Given the description of an element on the screen output the (x, y) to click on. 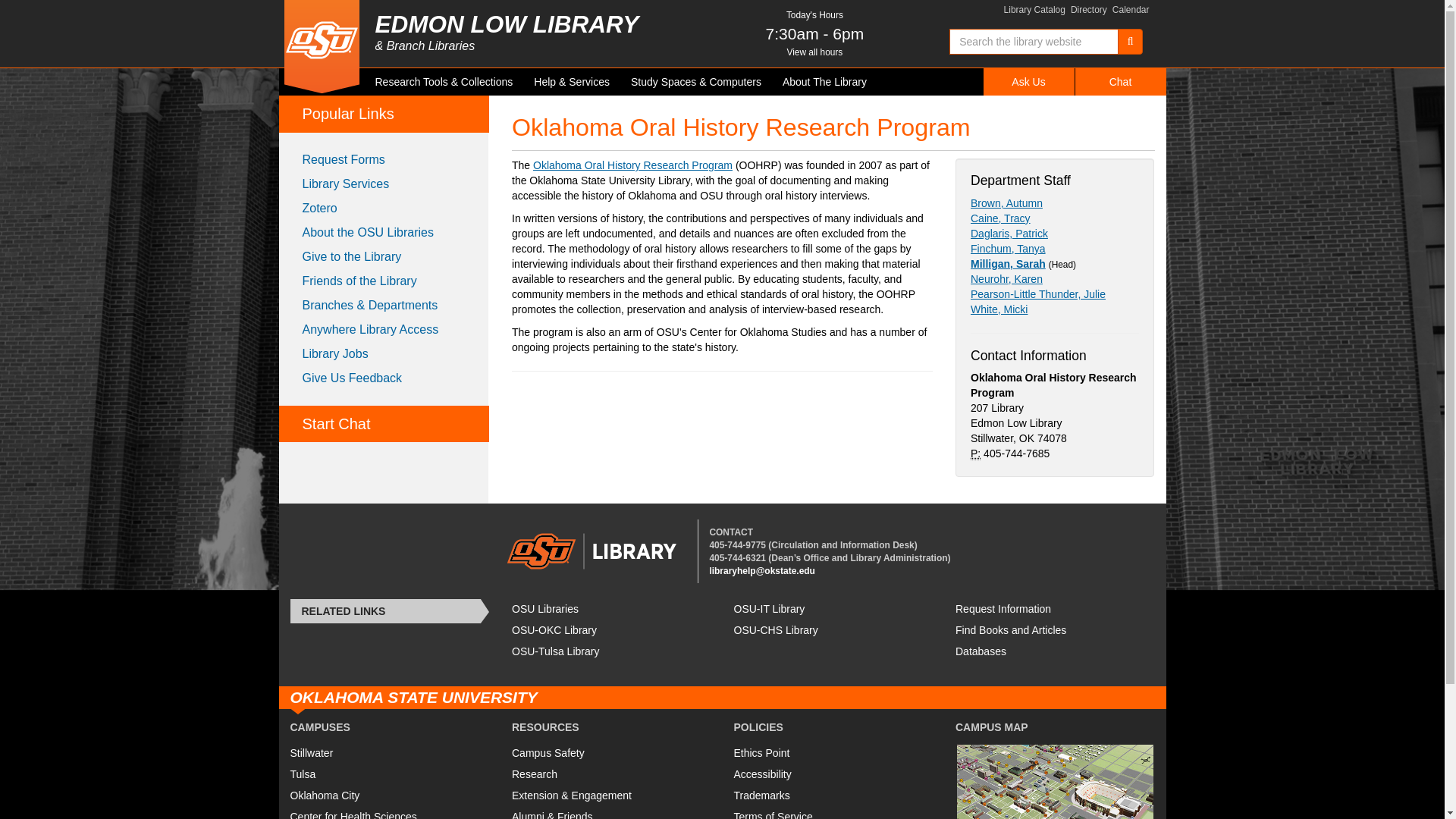
Request Forms (384, 159)
Library Jobs (384, 354)
Library Services (384, 183)
Give Us Feedback (384, 378)
About the OSU Libraries (384, 232)
Friends of the Library (384, 281)
Anywhere Library Access (384, 329)
Search Library Website button (1130, 41)
Give to  the Library (384, 256)
Library Catalog (1034, 9)
Call with Google Voice (737, 544)
Directory (1088, 9)
Call with Google Voice (737, 557)
View all hours (814, 51)
EDMON LOW LIBRARY (510, 24)
